Given the description of an element on the screen output the (x, y) to click on. 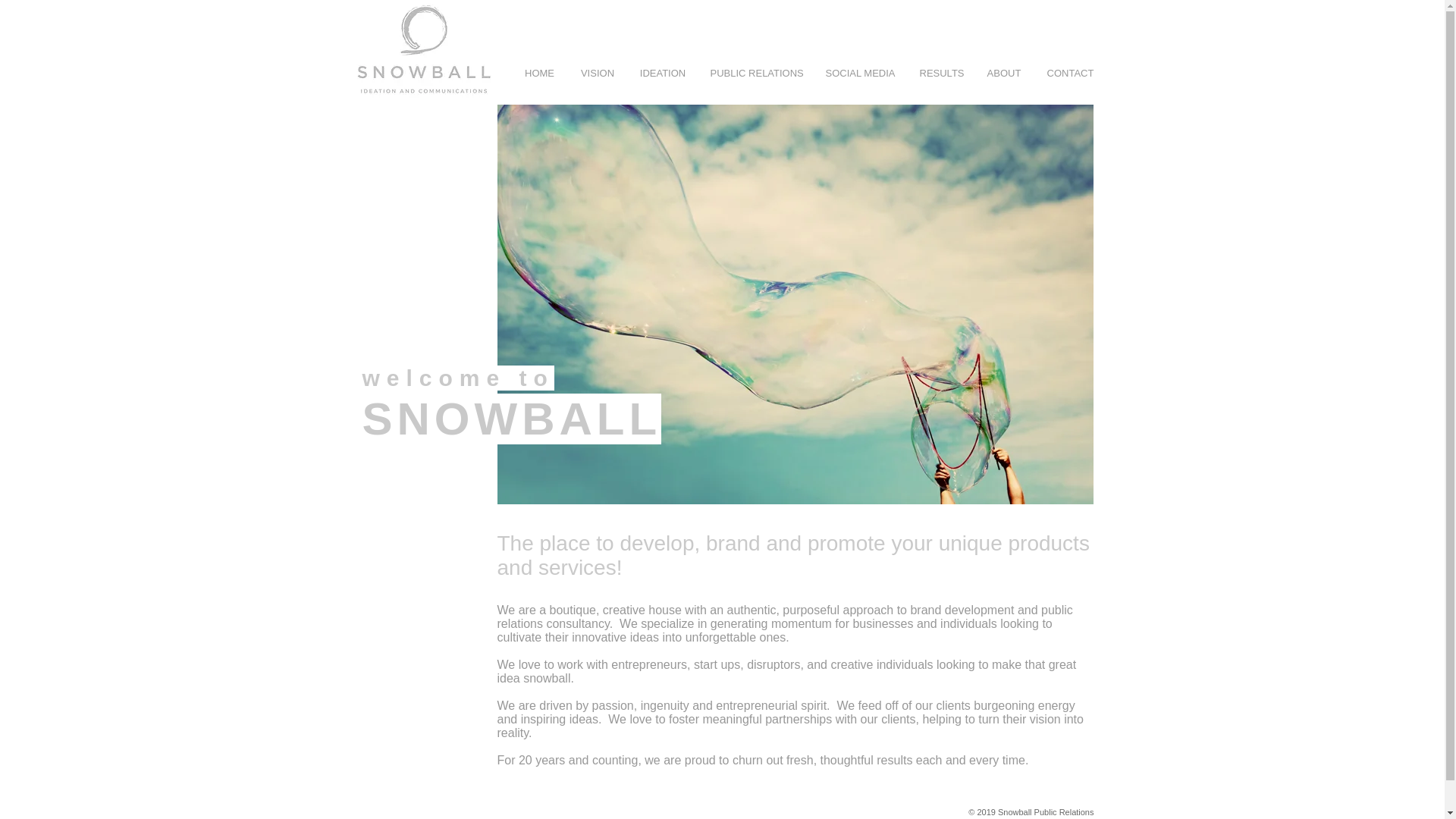
CONTACT (1069, 72)
IDEATION (662, 72)
welcome to (458, 377)
HOME (540, 72)
ABOUT (1003, 72)
SOCIAL MEDIA (860, 72)
RESULTS (941, 72)
VISION (598, 72)
PUBLIC RELATIONS (755, 72)
